Given the description of an element on the screen output the (x, y) to click on. 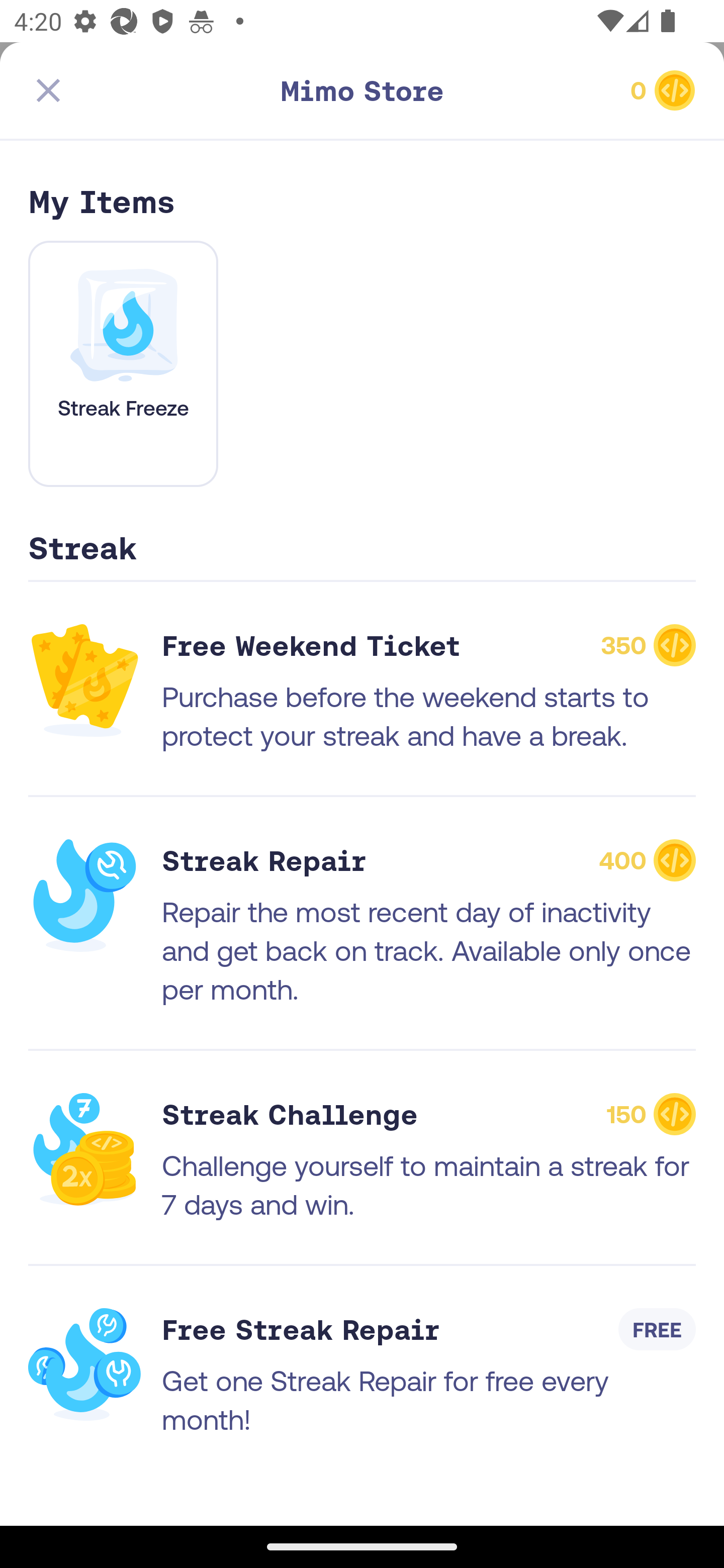
Close (47, 90)
Path Toolbar Image 0 (361, 90)
Path Toolbar Image 0 (588, 90)
Path Toolbar Selector Full-stack Development (361, 175)
Glossary Icon (639, 1332)
